Given the description of an element on the screen output the (x, y) to click on. 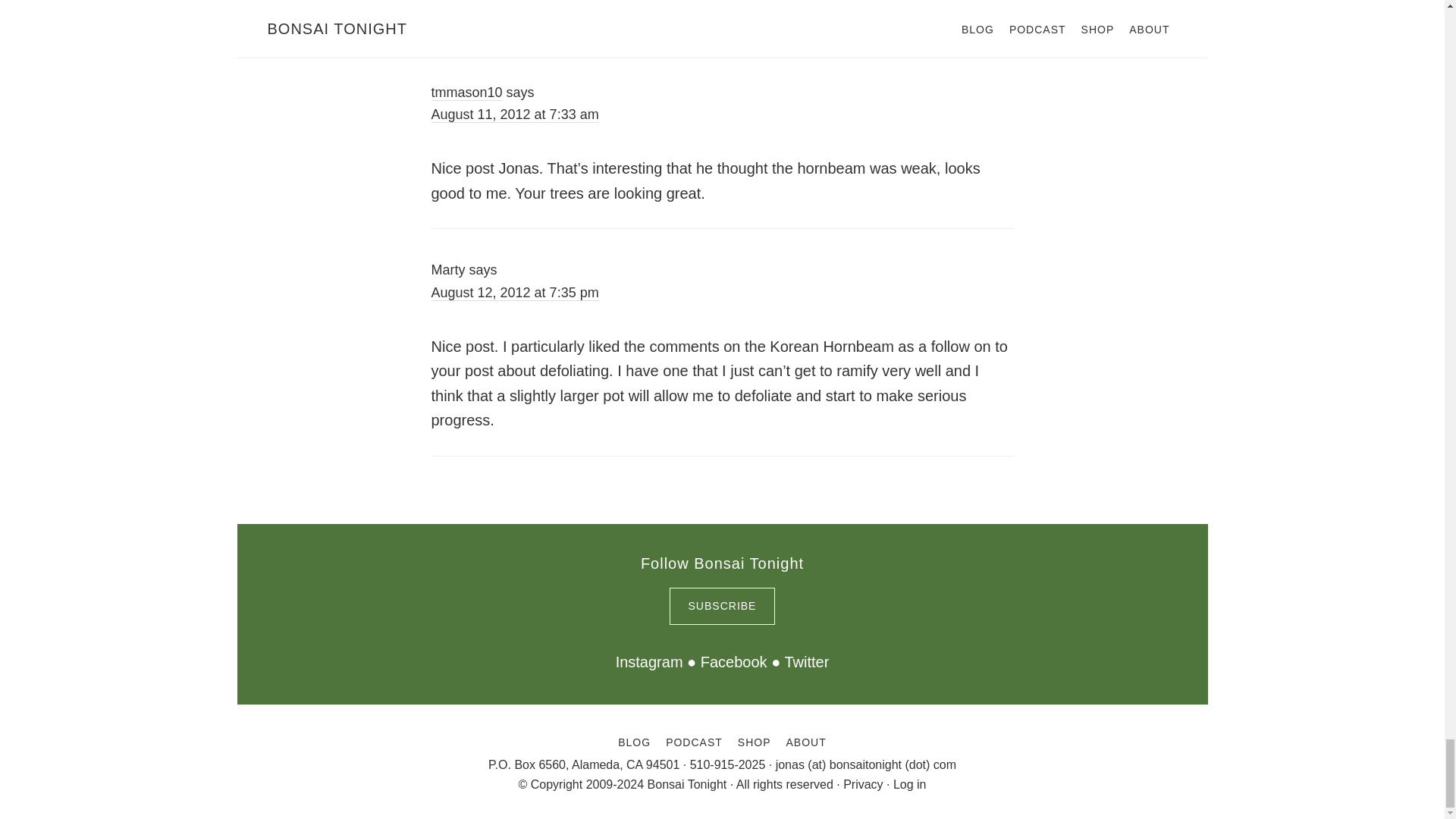
SUBSCRIBE (722, 606)
August 11, 2012 at 7:33 am (514, 114)
Instagram (648, 661)
tmmason10 (466, 92)
Bonsai Tonight (686, 784)
August 12, 2012 at 7:35 pm (514, 293)
